Given the description of an element on the screen output the (x, y) to click on. 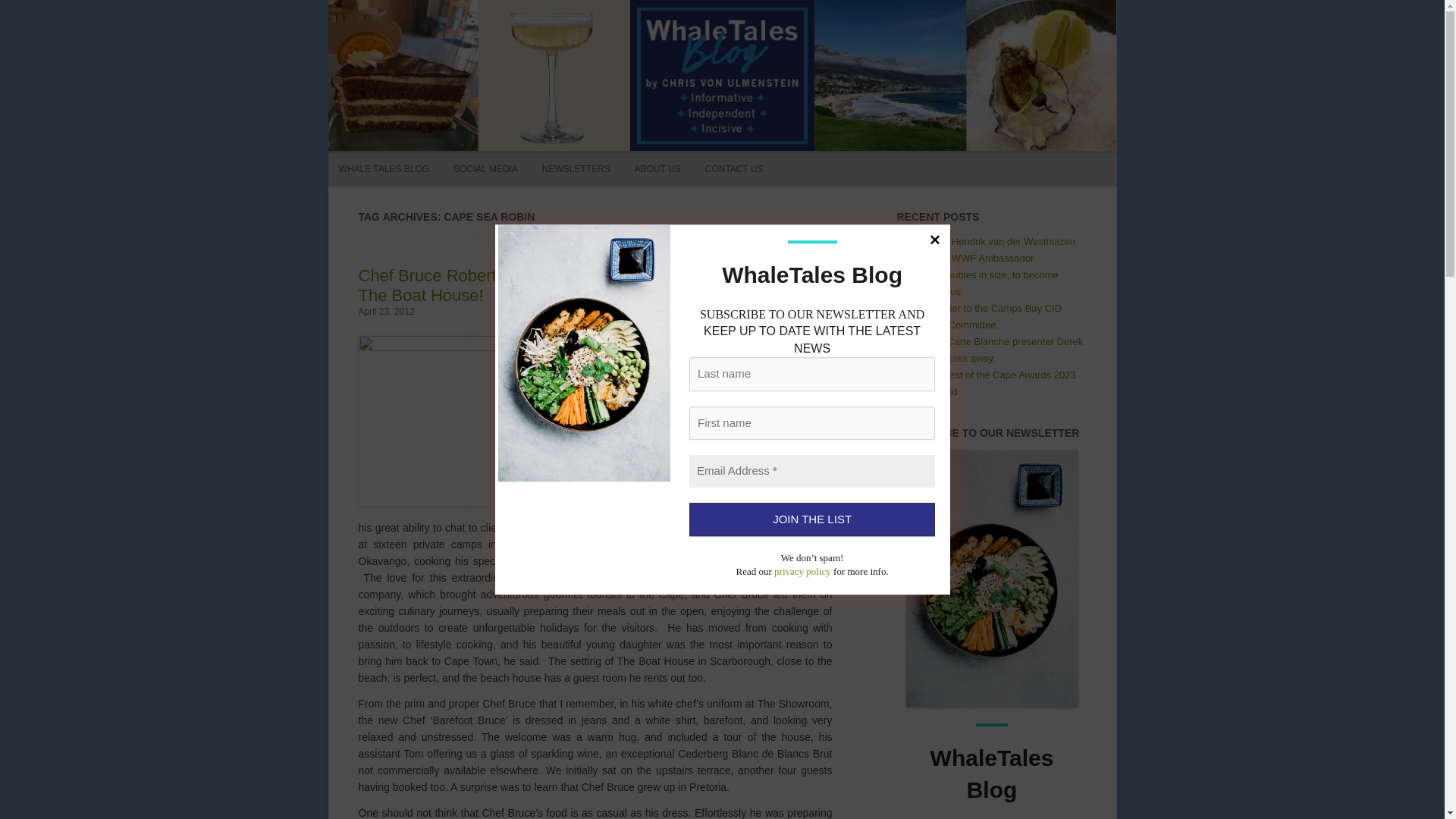
JOIN THE LIST (811, 519)
Search (777, 122)
Beloved Carte Blanche presenter Derek Watts passes away. (995, 349)
SOCIAL MEDIA (485, 168)
Open Letter to the Camps Bay CID Steering Committee. (984, 316)
Chef Jan-Hendrik van der Westhuizen becomes WWF Ambassador (991, 249)
WHALE TALES BLOG (383, 168)
CONTACT US (733, 168)
WhaleTales Blog by Chris von Ulmenstein (267, 31)
Skip to content (757, 157)
ABOUT US (657, 168)
boat-house-bruce-inside-whale-cottage-portfolio (471, 420)
8:12 am (385, 311)
April 23, 2012 (385, 311)
